Given the description of an element on the screen output the (x, y) to click on. 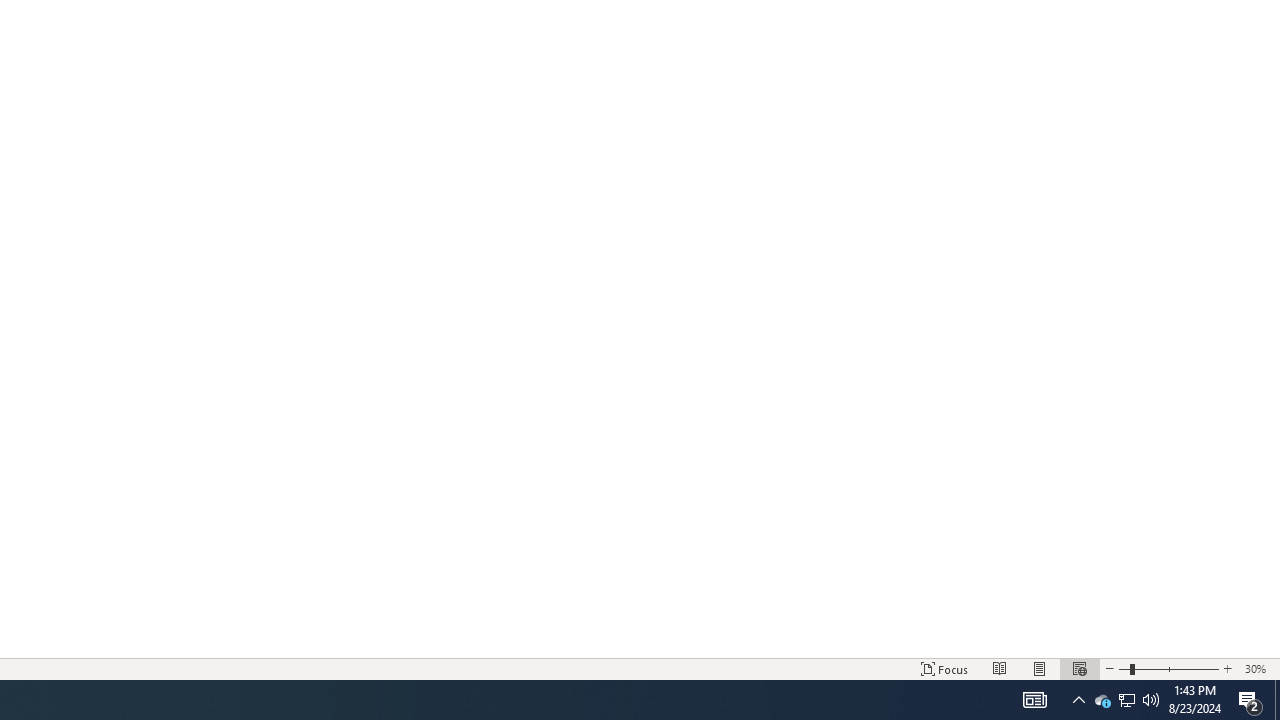
Zoom 30% (1258, 668)
